Given the description of an element on the screen output the (x, y) to click on. 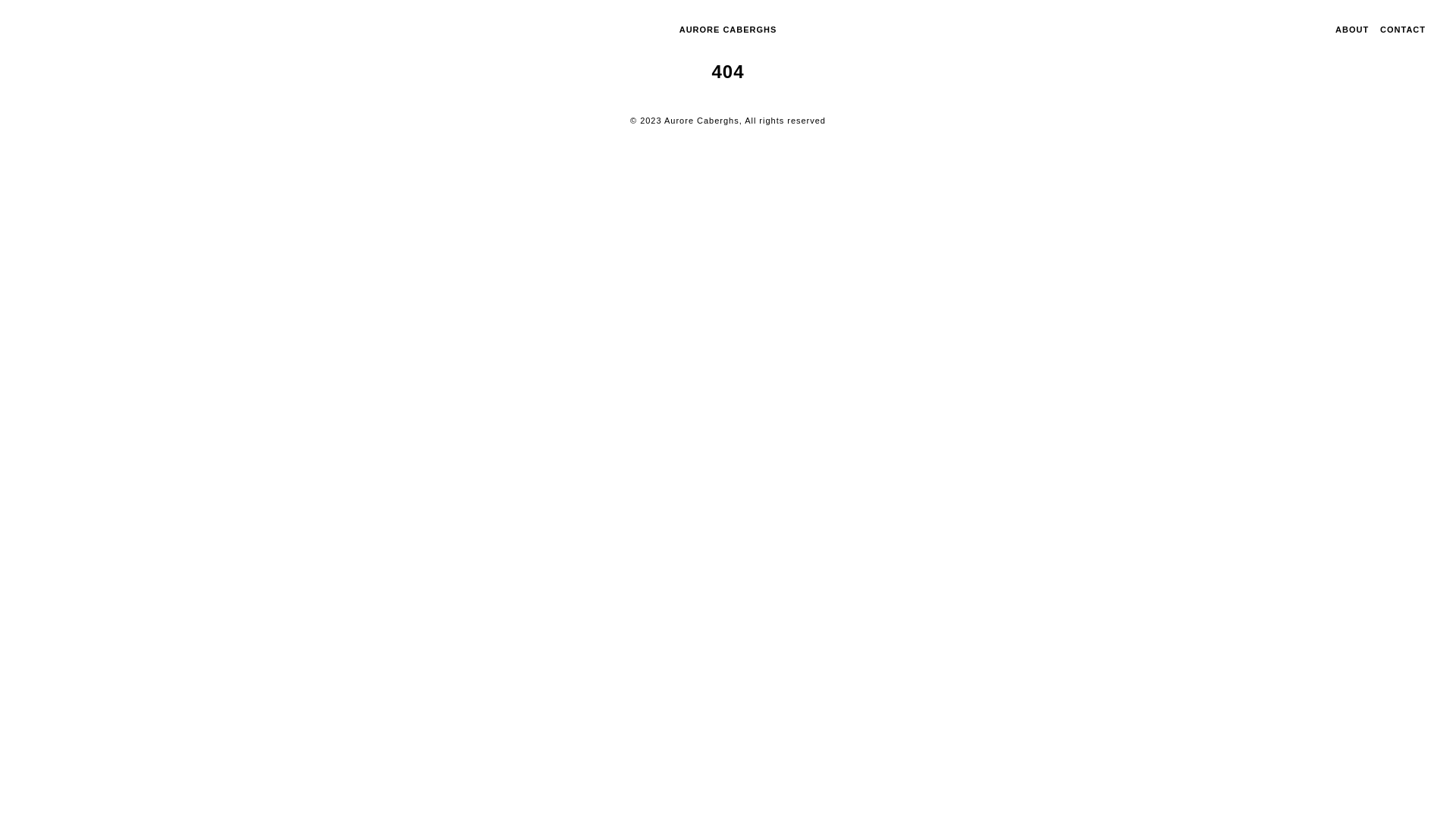
AURORE CABERGHS Element type: text (727, 29)
ABOUT Element type: text (1351, 29)
CONTACT Element type: text (1402, 29)
